Given the description of an element on the screen output the (x, y) to click on. 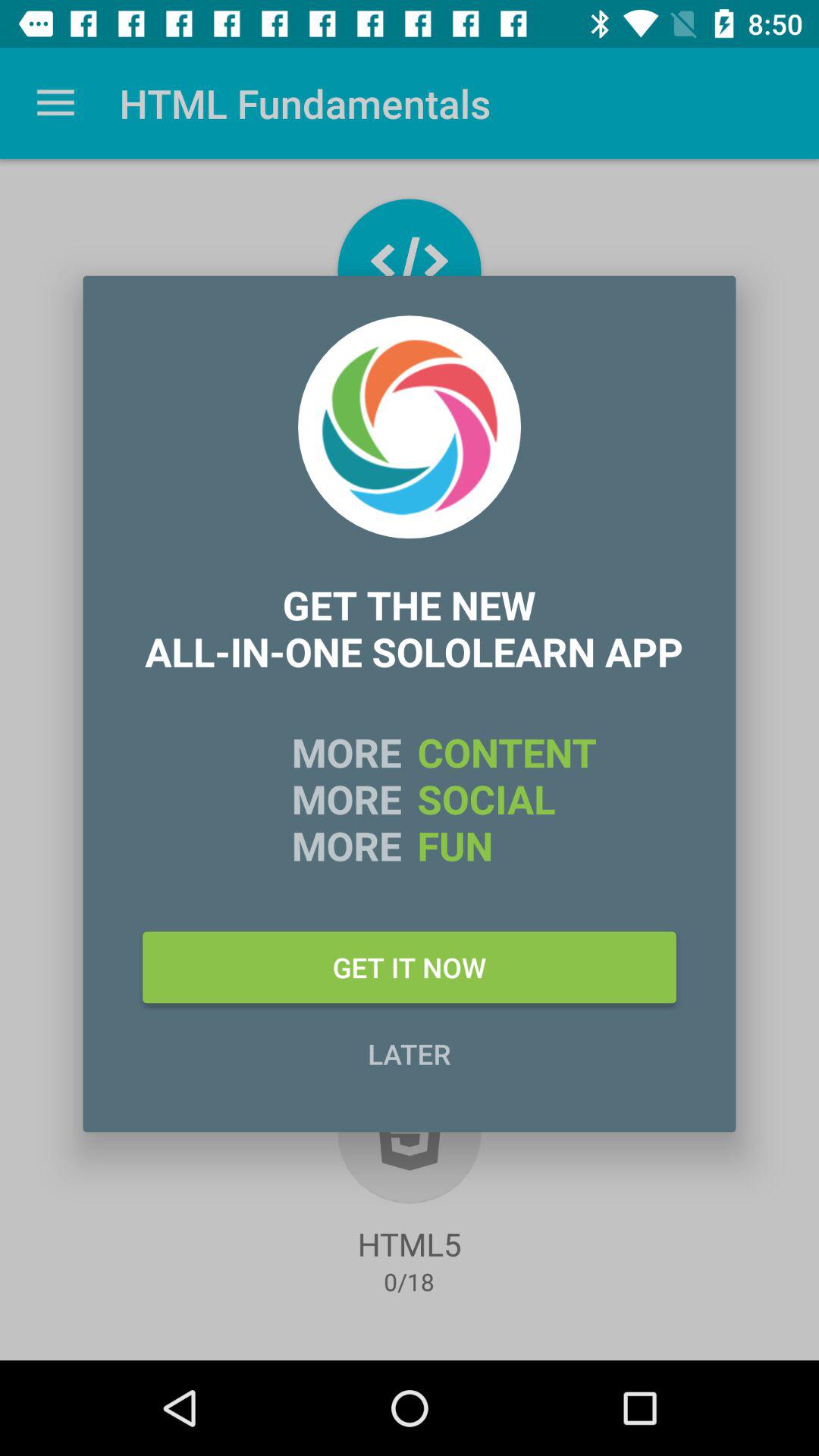
scroll to later (409, 1053)
